Given the description of an element on the screen output the (x, y) to click on. 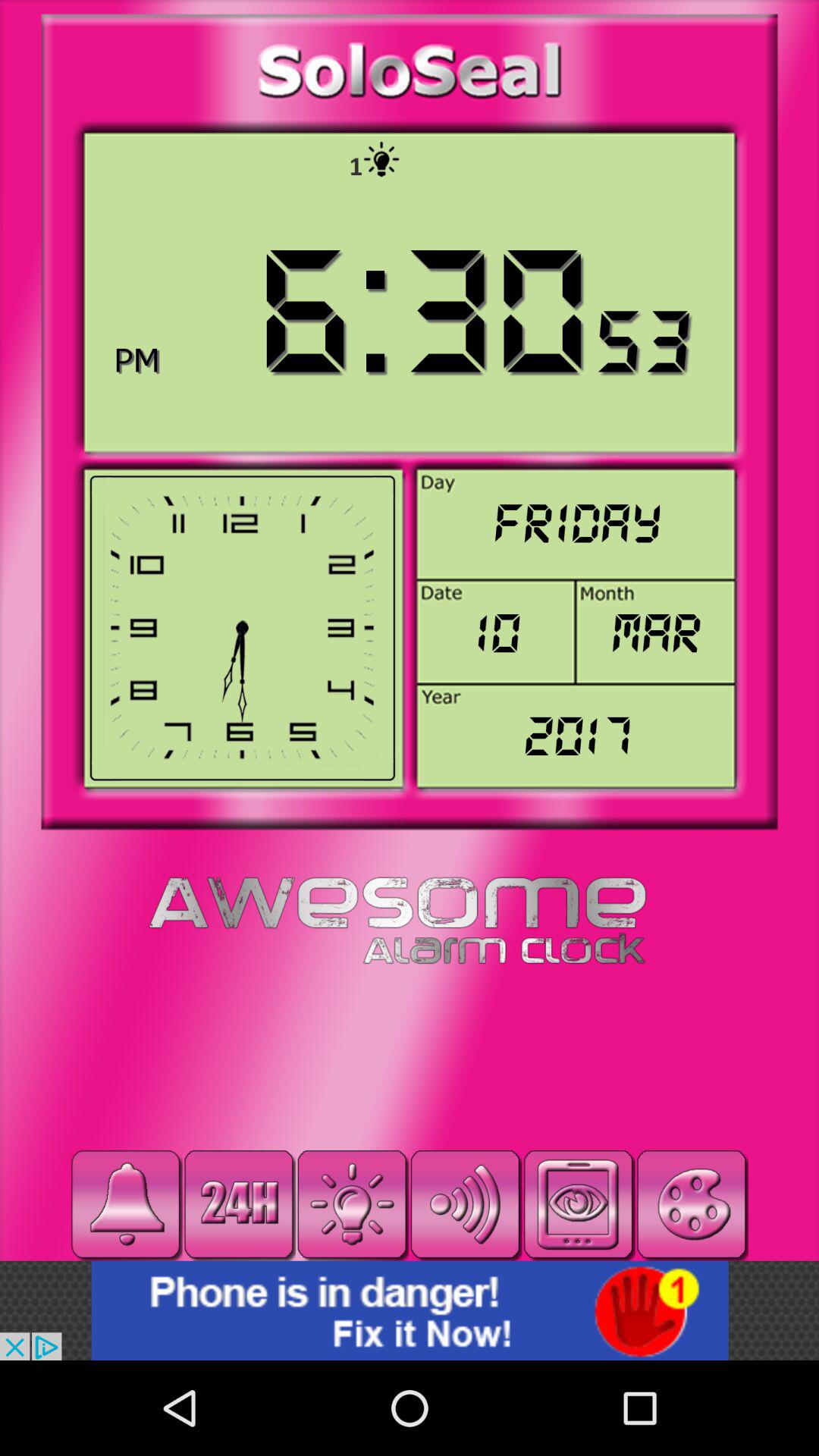
power setting box (351, 1203)
